Given the description of an element on the screen output the (x, y) to click on. 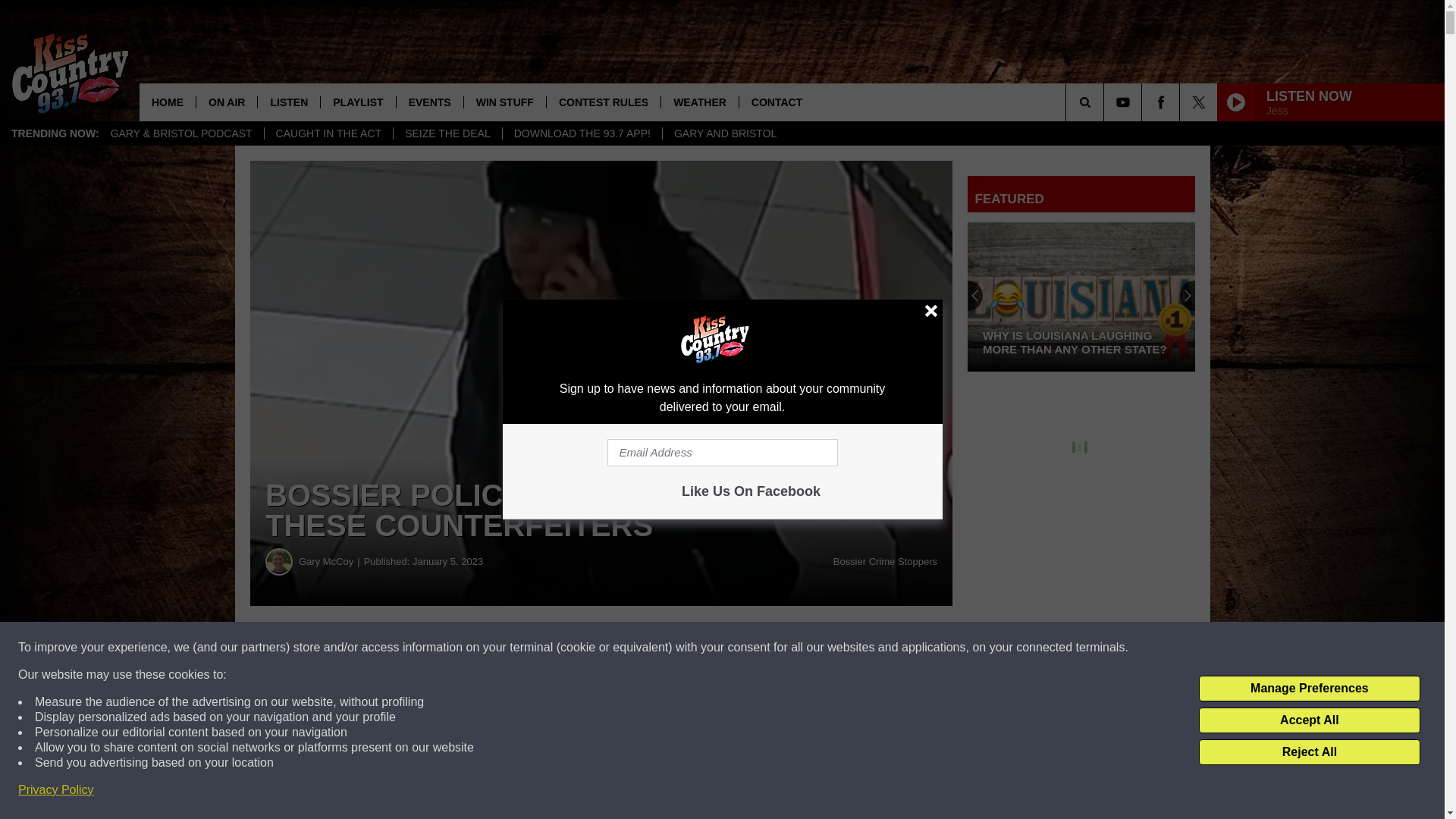
SEARCH (1106, 102)
Share on Facebook (460, 647)
SEARCH (1106, 102)
ON AIR (226, 102)
GARY AND BRISTOL (724, 133)
Privacy Policy (55, 789)
CAUGHT IN THE ACT (328, 133)
Manage Preferences (1309, 688)
CONTEST RULES (603, 102)
WIN STUFF (504, 102)
HOME (167, 102)
EVENTS (429, 102)
LISTEN (288, 102)
DOWNLOAD THE 93.7 APP! (582, 133)
PLAYLIST (357, 102)
